Given the description of an element on the screen output the (x, y) to click on. 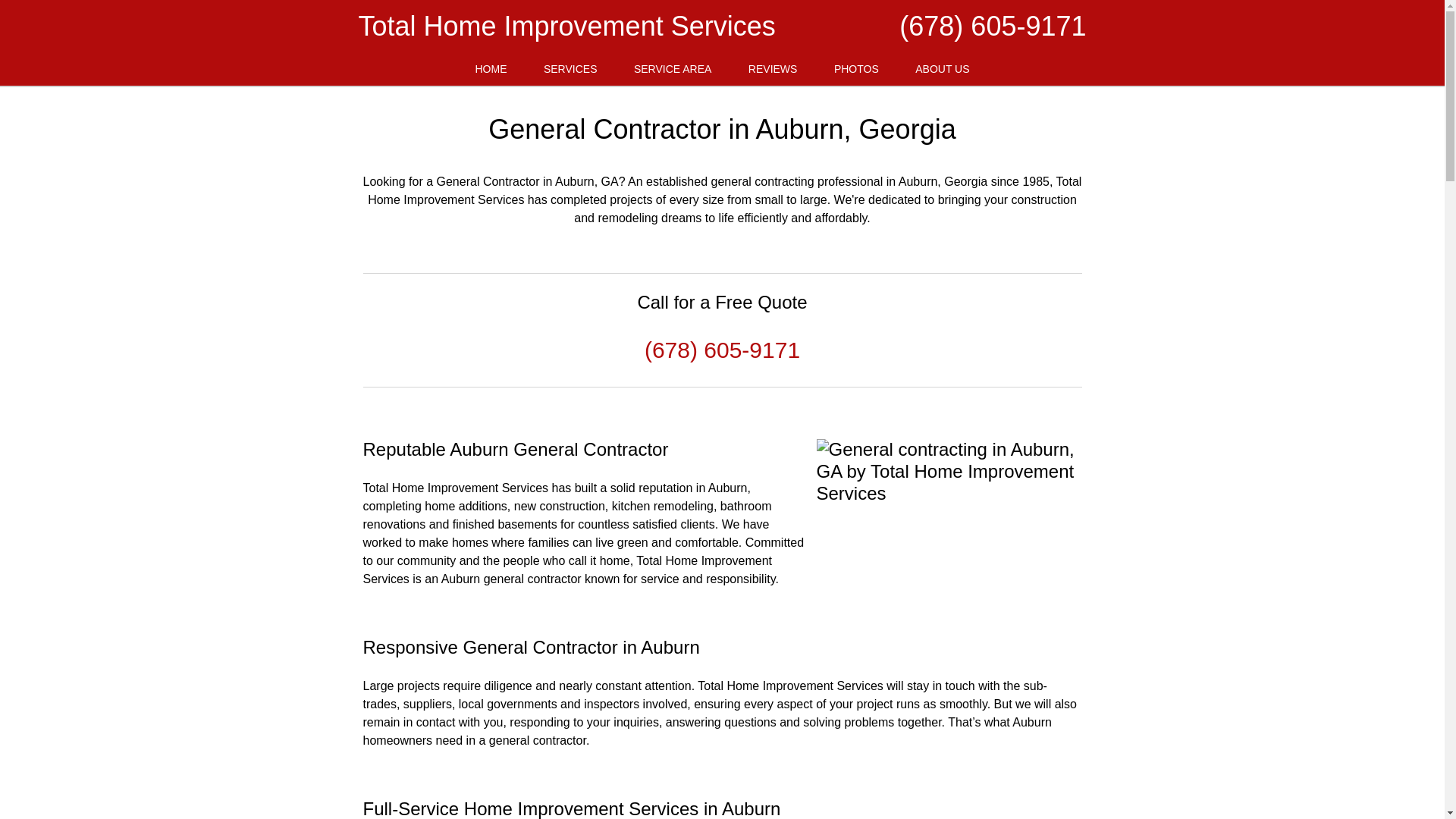
HOME (490, 69)
SERVICES (570, 69)
SERVICE AREA (672, 69)
ABOUT US (941, 69)
PHOTOS (855, 69)
REVIEWS (772, 69)
